Given the description of an element on the screen output the (x, y) to click on. 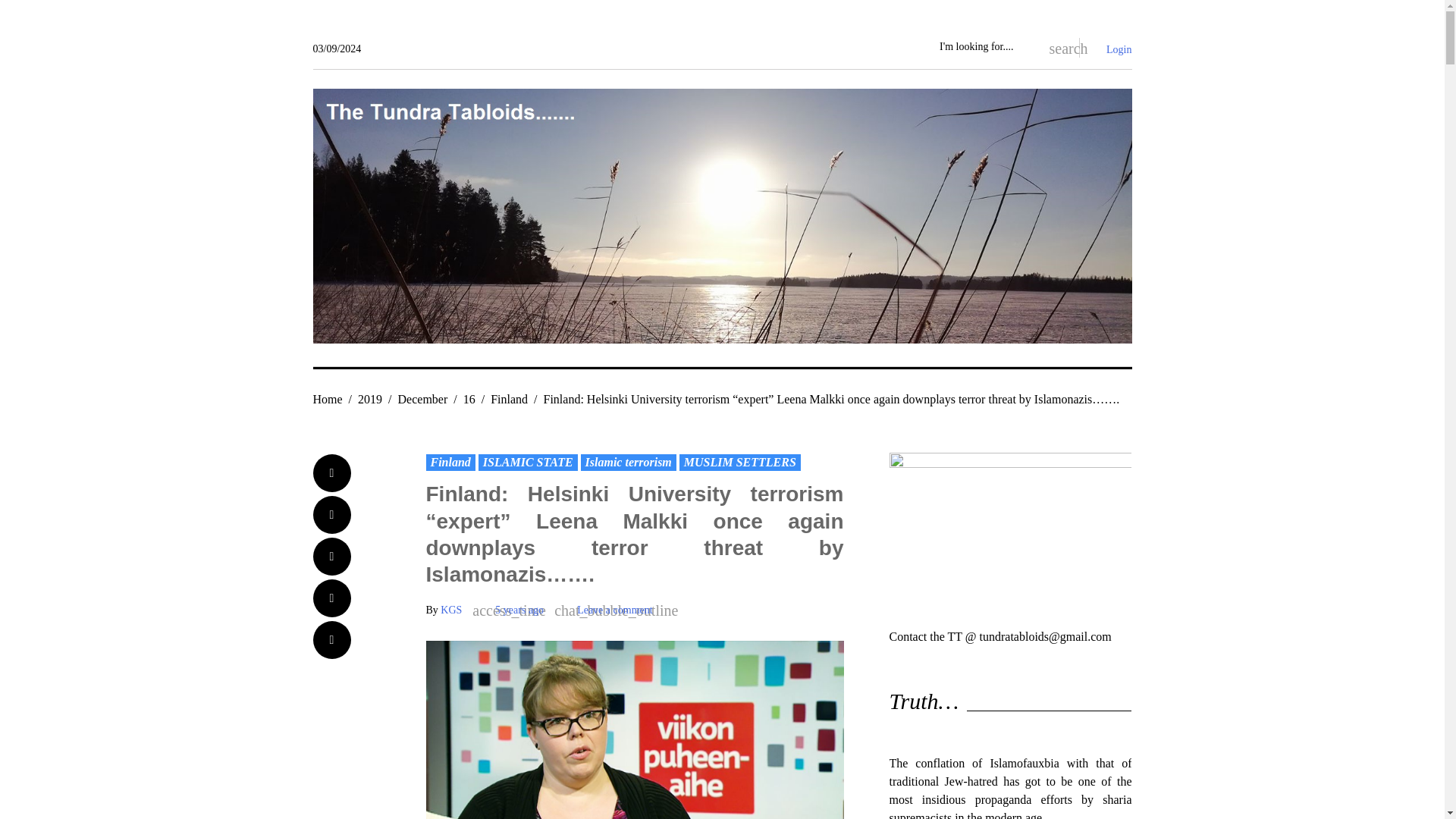
LinkedIn (331, 598)
2019 (369, 399)
Facebook (331, 473)
16 (469, 399)
ISLAMIC STATE (528, 462)
Home (327, 399)
2019 (369, 399)
MUSLIM SETTLERS (739, 462)
Share on Pinterest (331, 639)
search (1056, 46)
